Given the description of an element on the screen output the (x, y) to click on. 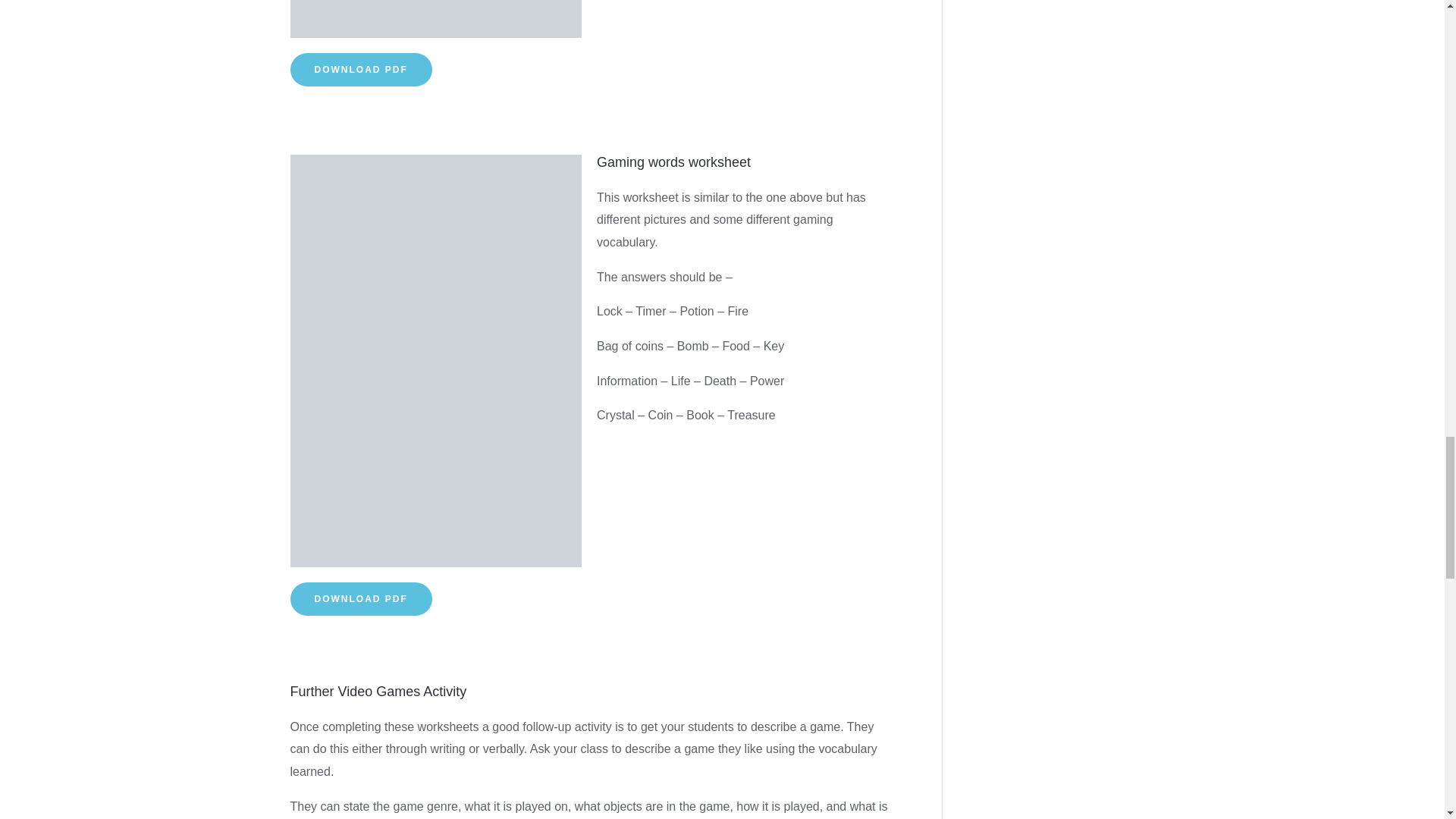
DOWNLOAD PDF (359, 598)
DOWNLOAD PDF (359, 69)
